Given the description of an element on the screen output the (x, y) to click on. 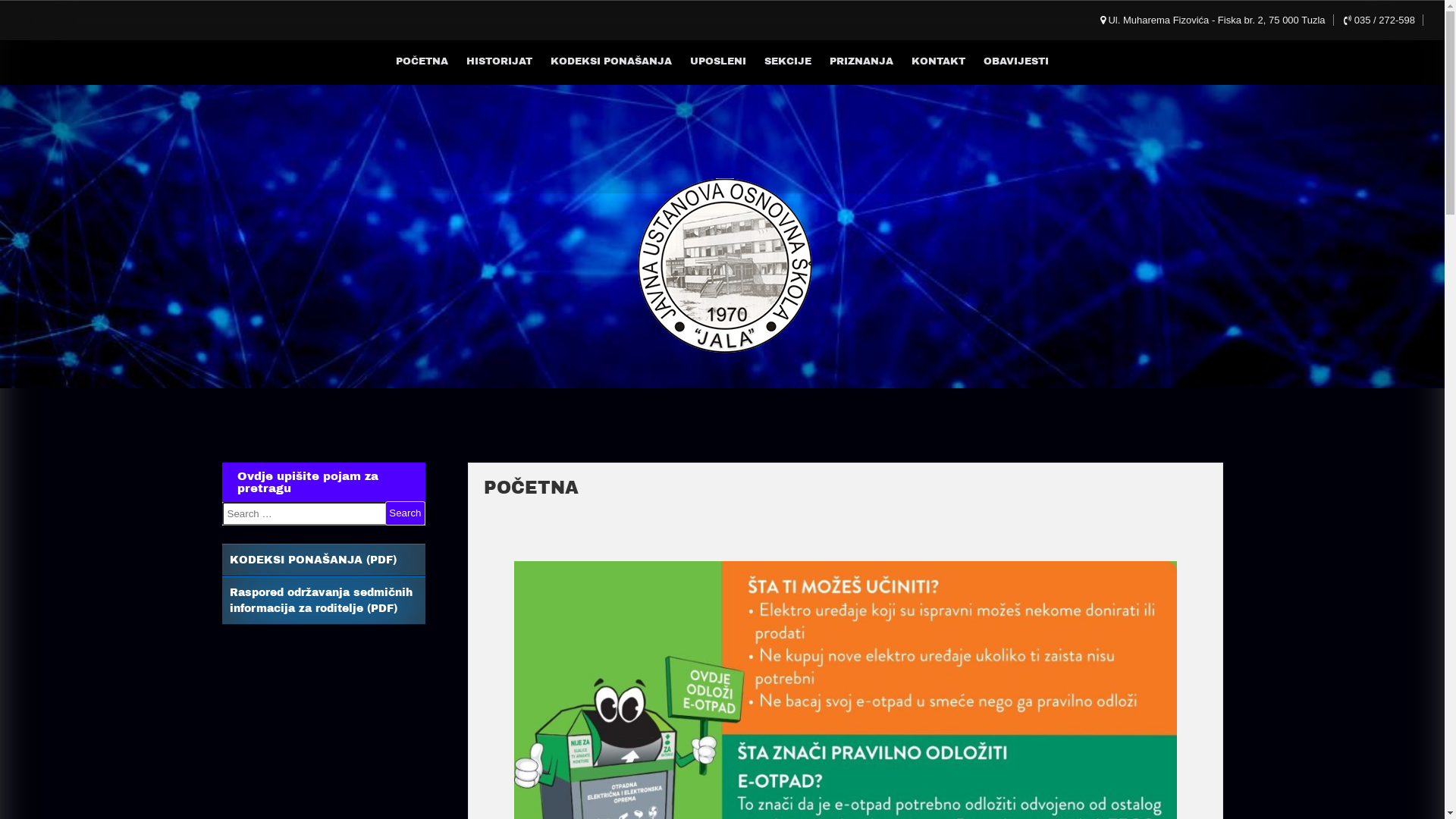
Search Element type: text (404, 513)
PRIZNANJA Element type: text (861, 61)
SEKCIJE Element type: text (787, 61)
OBAVIJESTI Element type: text (1015, 61)
UPOSLENI Element type: text (717, 61)
KONTAKT Element type: text (938, 61)
HISTORIJAT Element type: text (499, 61)
